Given the description of an element on the screen output the (x, y) to click on. 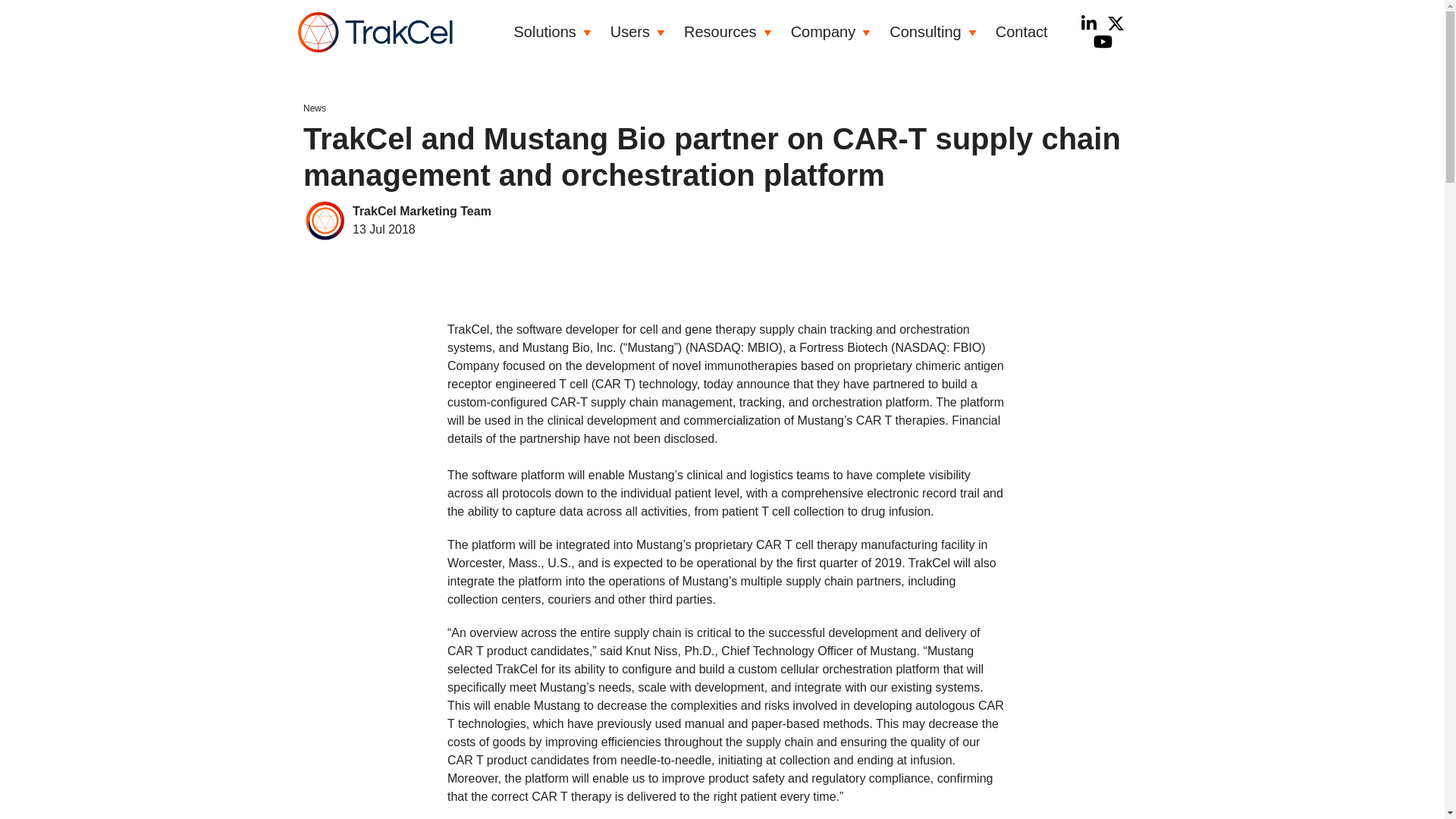
You Tube (1102, 41)
Twitter (1115, 22)
Contact (1021, 32)
Consulting (924, 32)
Users (629, 32)
Users (629, 32)
TrakCel Marketing Team (422, 211)
Skip to content (255, 37)
Resources (720, 32)
Company (823, 32)
